Given the description of an element on the screen output the (x, y) to click on. 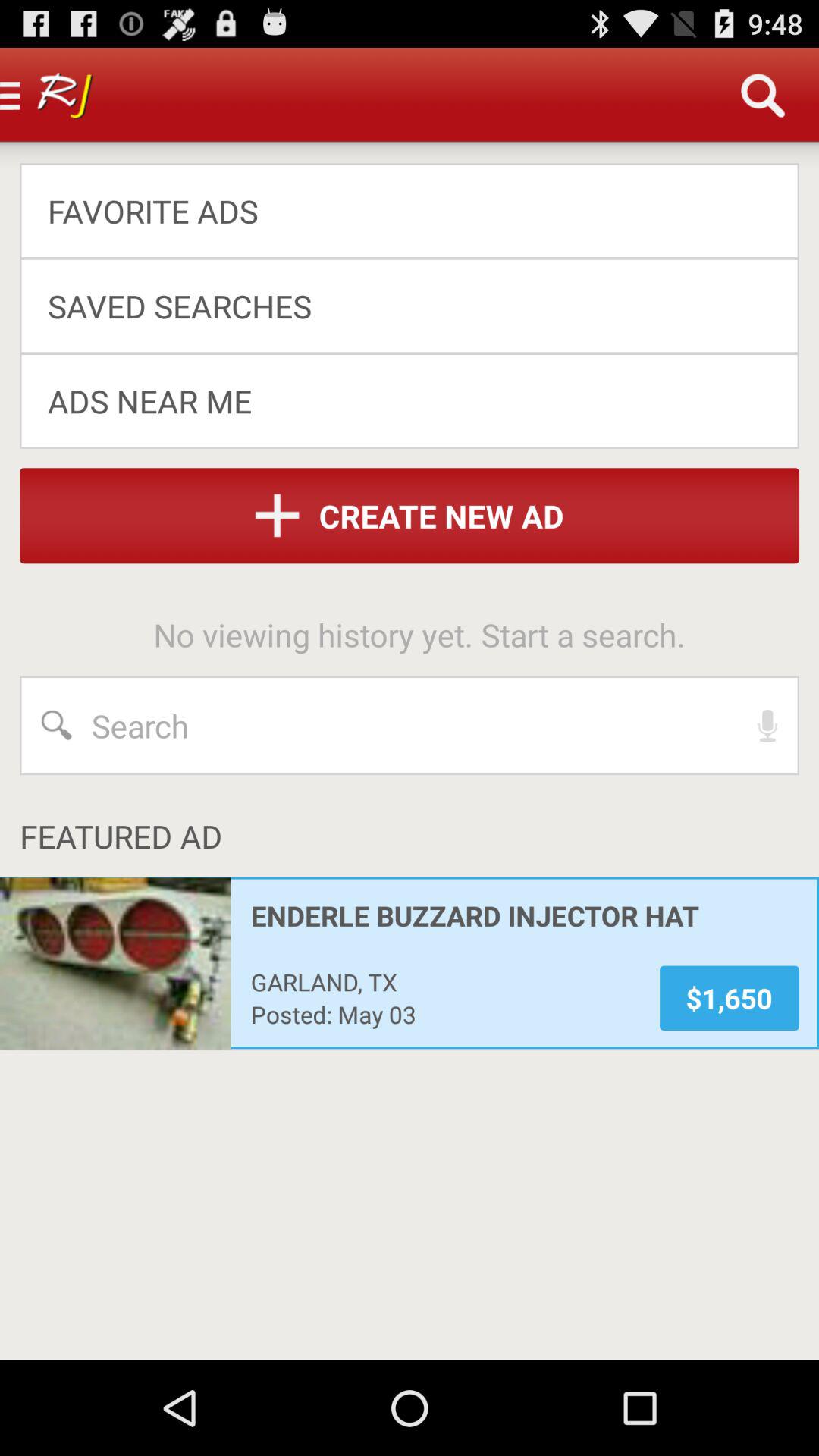
talk to text (767, 725)
